Given the description of an element on the screen output the (x, y) to click on. 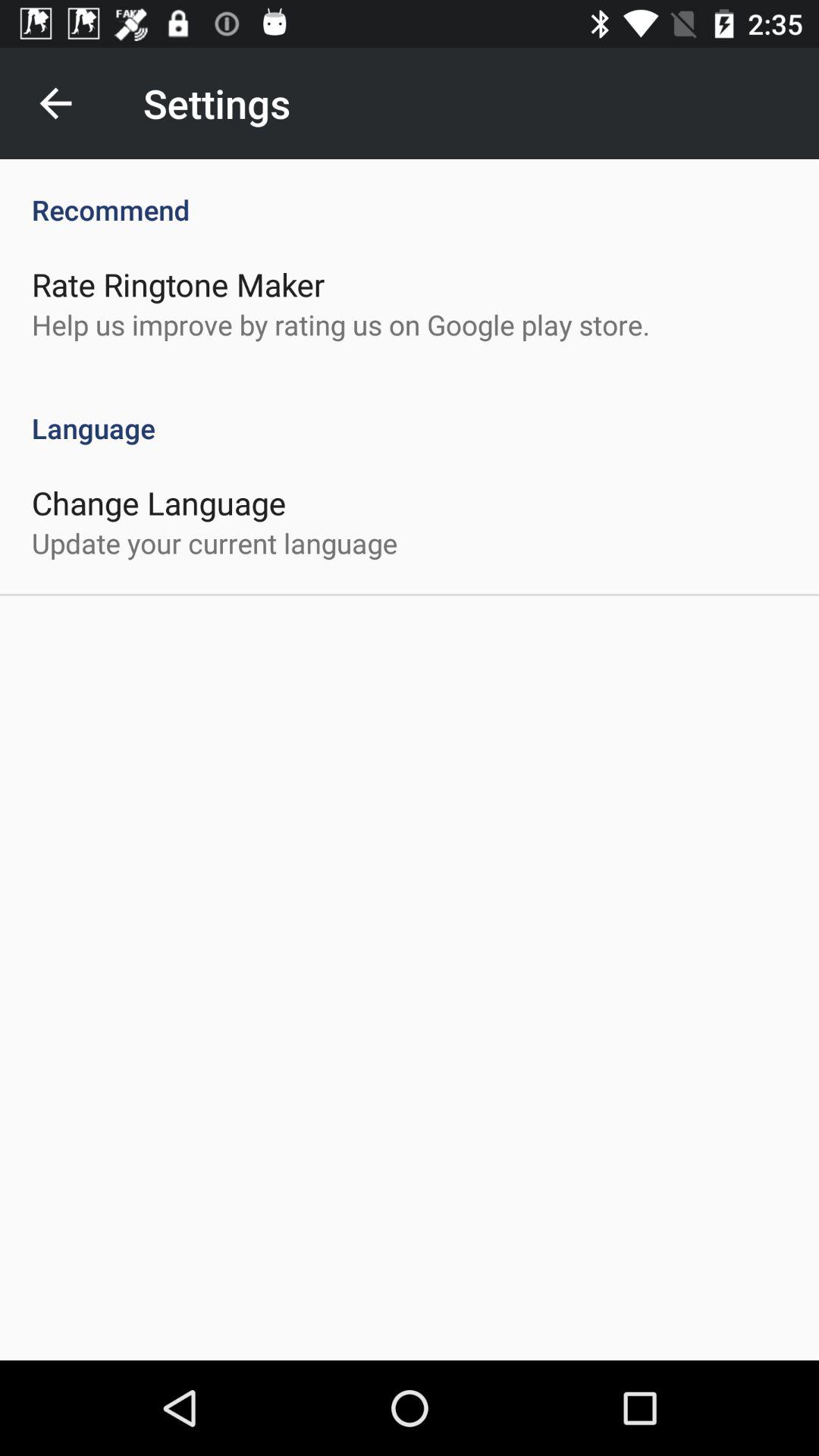
launch icon below the recommend (177, 283)
